Given the description of an element on the screen output the (x, y) to click on. 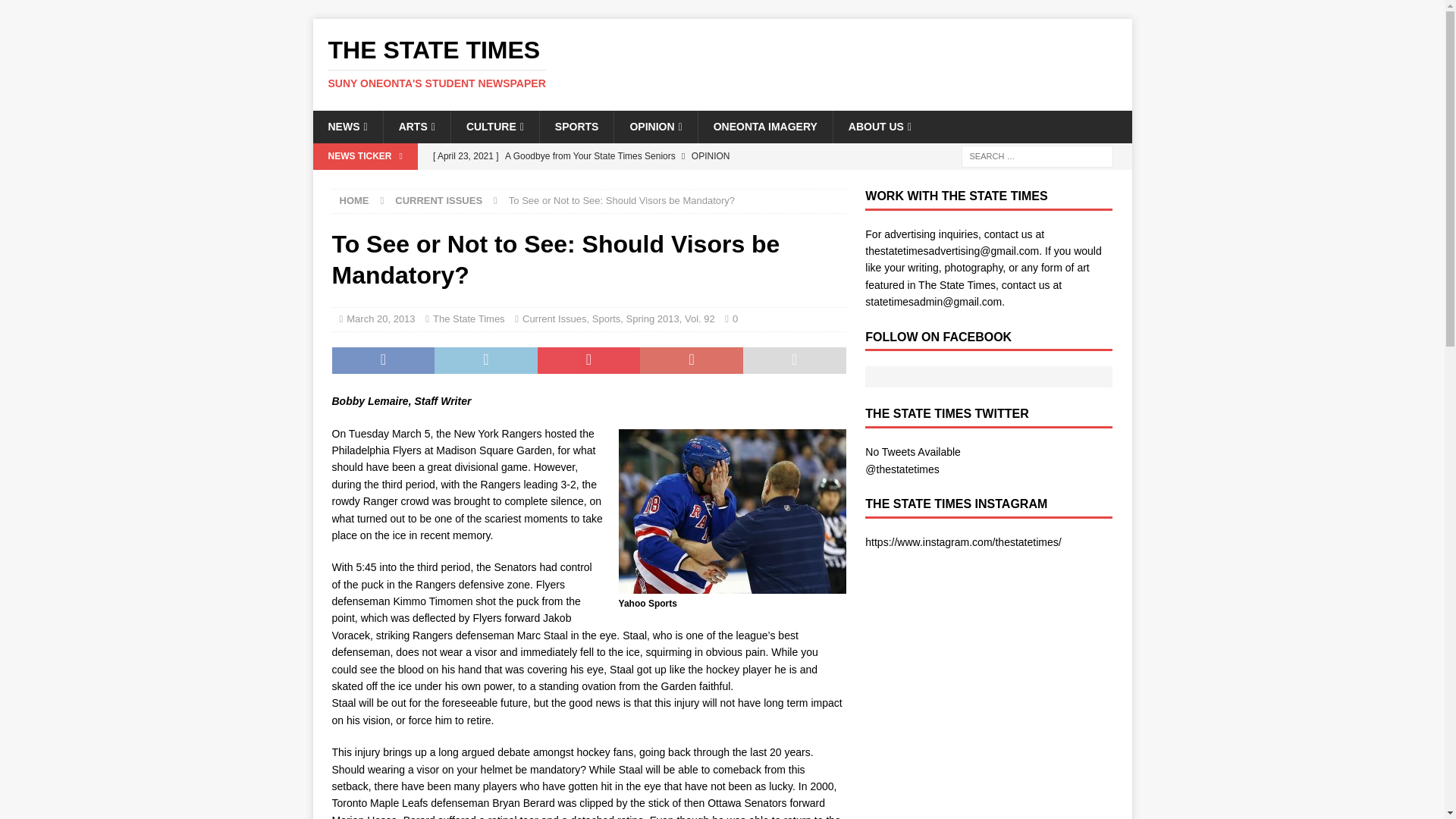
HOME (354, 200)
ABOUT US (879, 126)
A Farewell from Your State Times Seniors (634, 181)
CURRENT ISSUES (437, 200)
Current Issues (721, 63)
The State Times (554, 318)
SPORTS (721, 63)
NEWS (576, 126)
Search (347, 126)
ONEONTA IMAGERY (56, 11)
March 20, 2013 (764, 126)
OPINION (380, 318)
The State Times (654, 126)
CULTURE (468, 318)
